Given the description of an element on the screen output the (x, y) to click on. 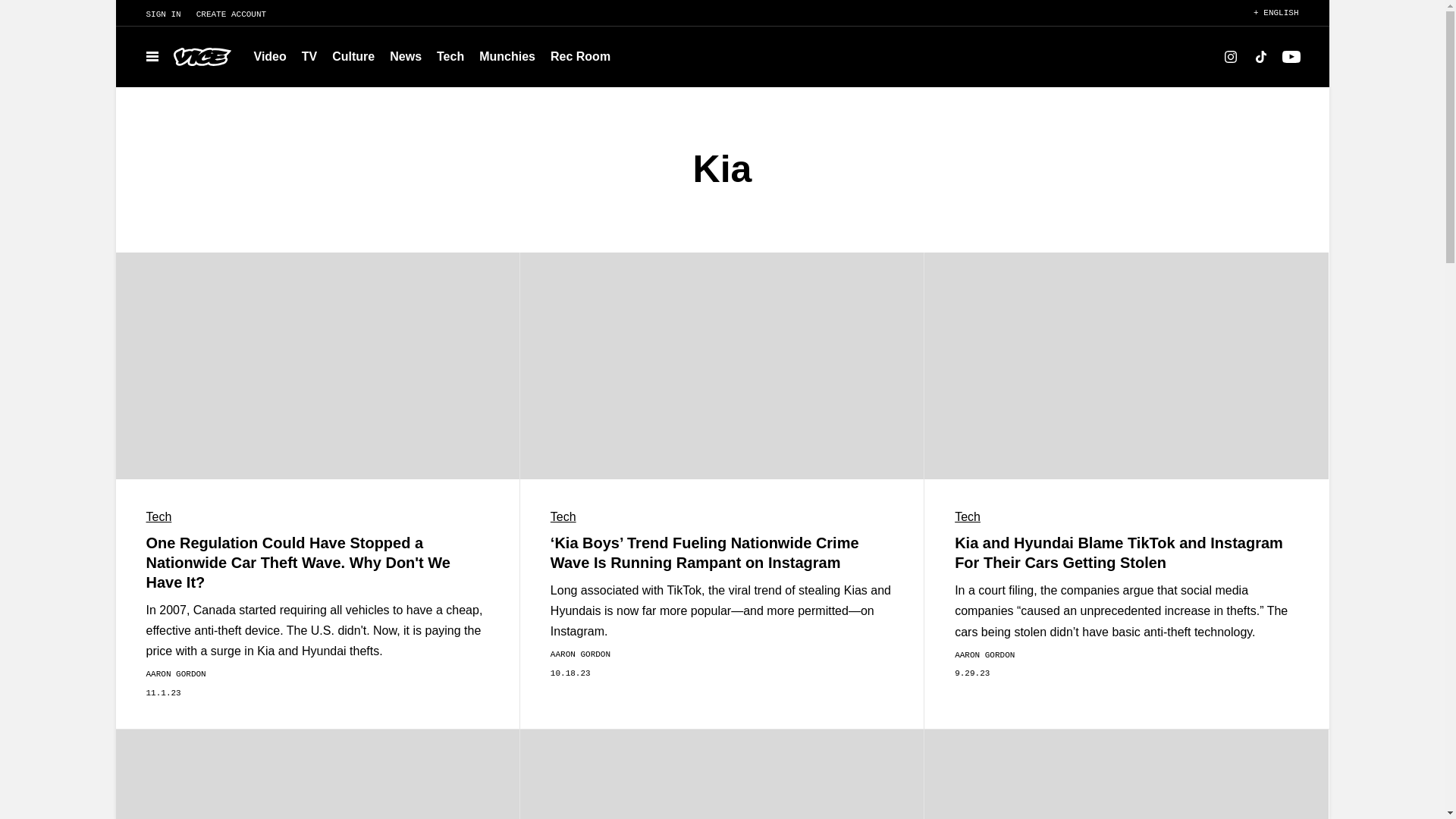
Tech (450, 56)
Video (270, 56)
Munchies (507, 56)
TV (309, 56)
News (405, 56)
SIGN IN (155, 13)
Culture (352, 56)
CREATE ACCOUNT (238, 13)
Rec Room (580, 56)
